Given the description of an element on the screen output the (x, y) to click on. 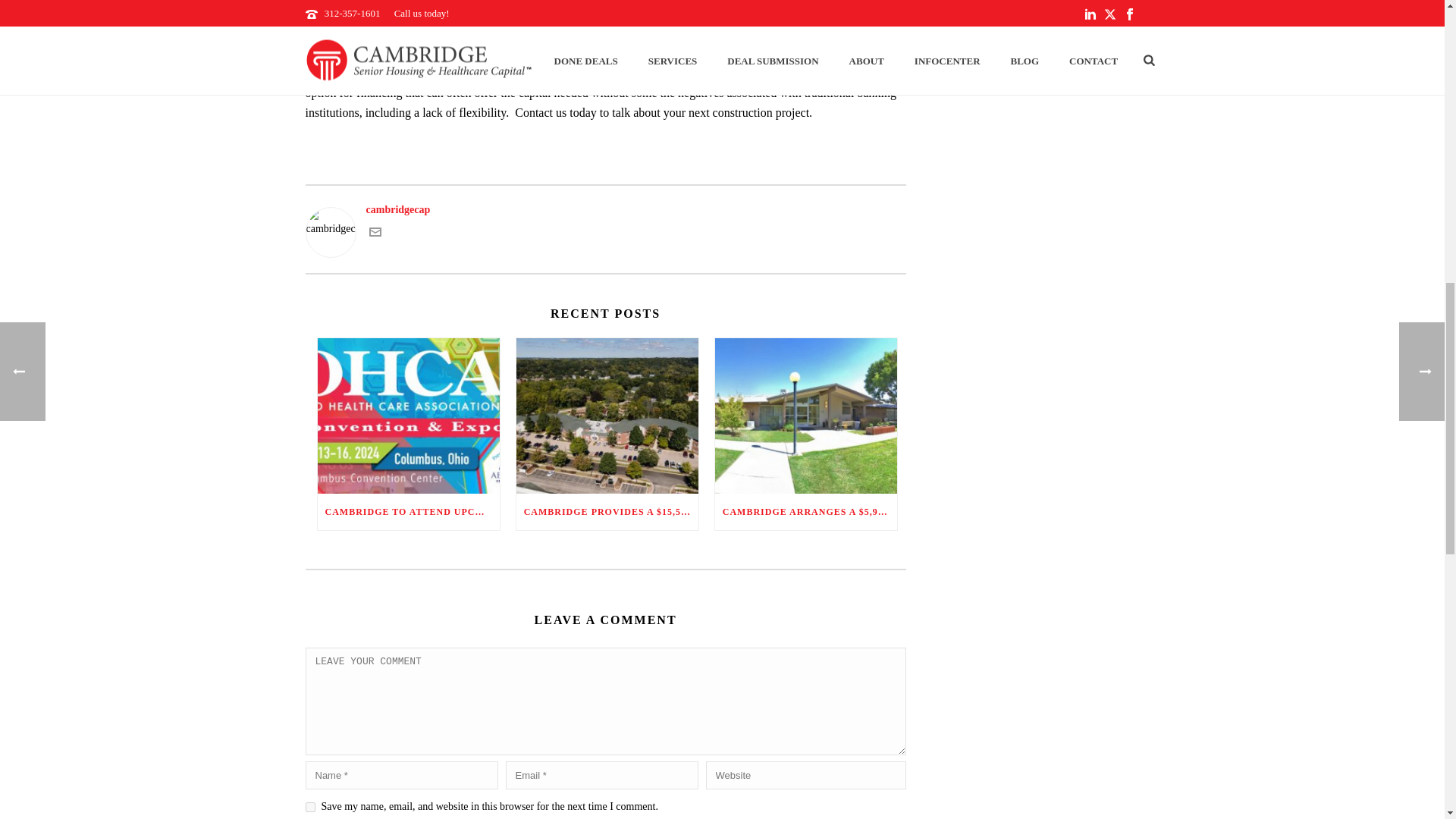
Cambridge To Attend Upcoming Ohio Health Care Convention (408, 415)
yes (309, 807)
Get in touch with me via email (374, 234)
